Given the description of an element on the screen output the (x, y) to click on. 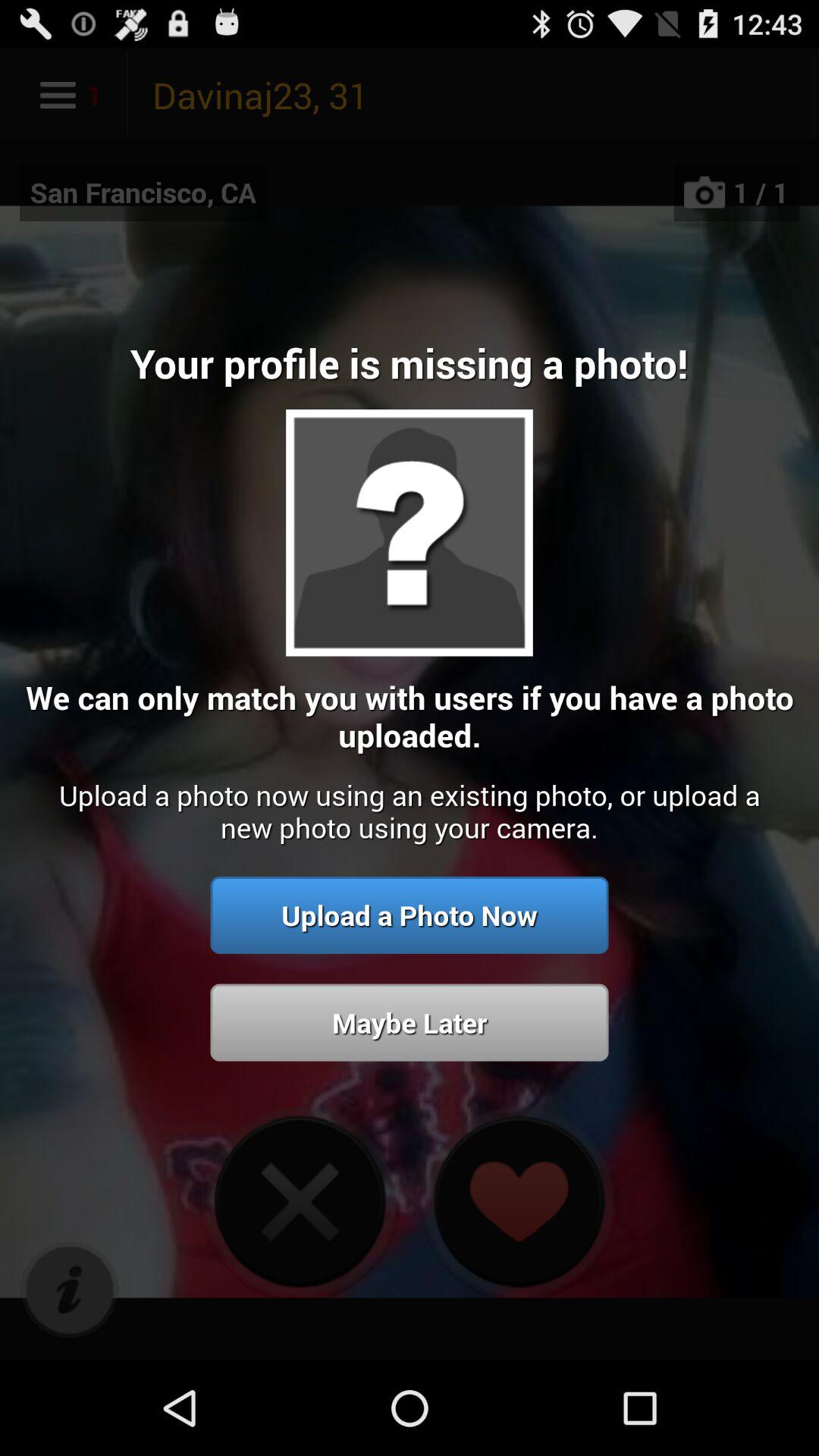
close (299, 1200)
